Given the description of an element on the screen output the (x, y) to click on. 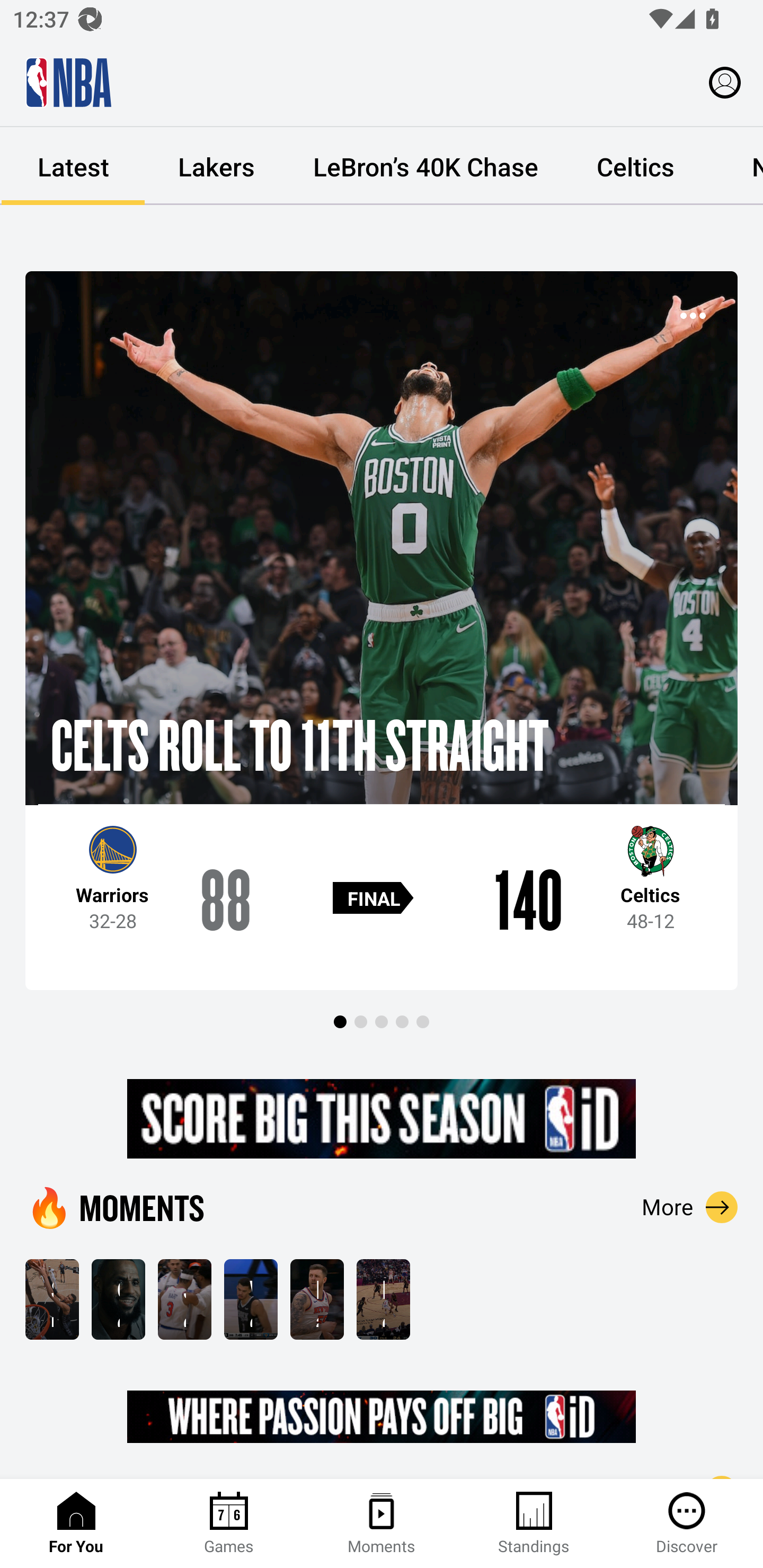
Profile (724, 81)
Lakers (215, 166)
LeBron’s 40K Chase (425, 166)
Celtics (634, 166)
More (689, 1207)
Sunday's Top Plays In 30 Seconds ⏱ (51, 1299)
Hartenstein Drops The Hammer 🔨 (317, 1299)
Games (228, 1523)
Moments (381, 1523)
Standings (533, 1523)
Discover (686, 1523)
